Given the description of an element on the screen output the (x, y) to click on. 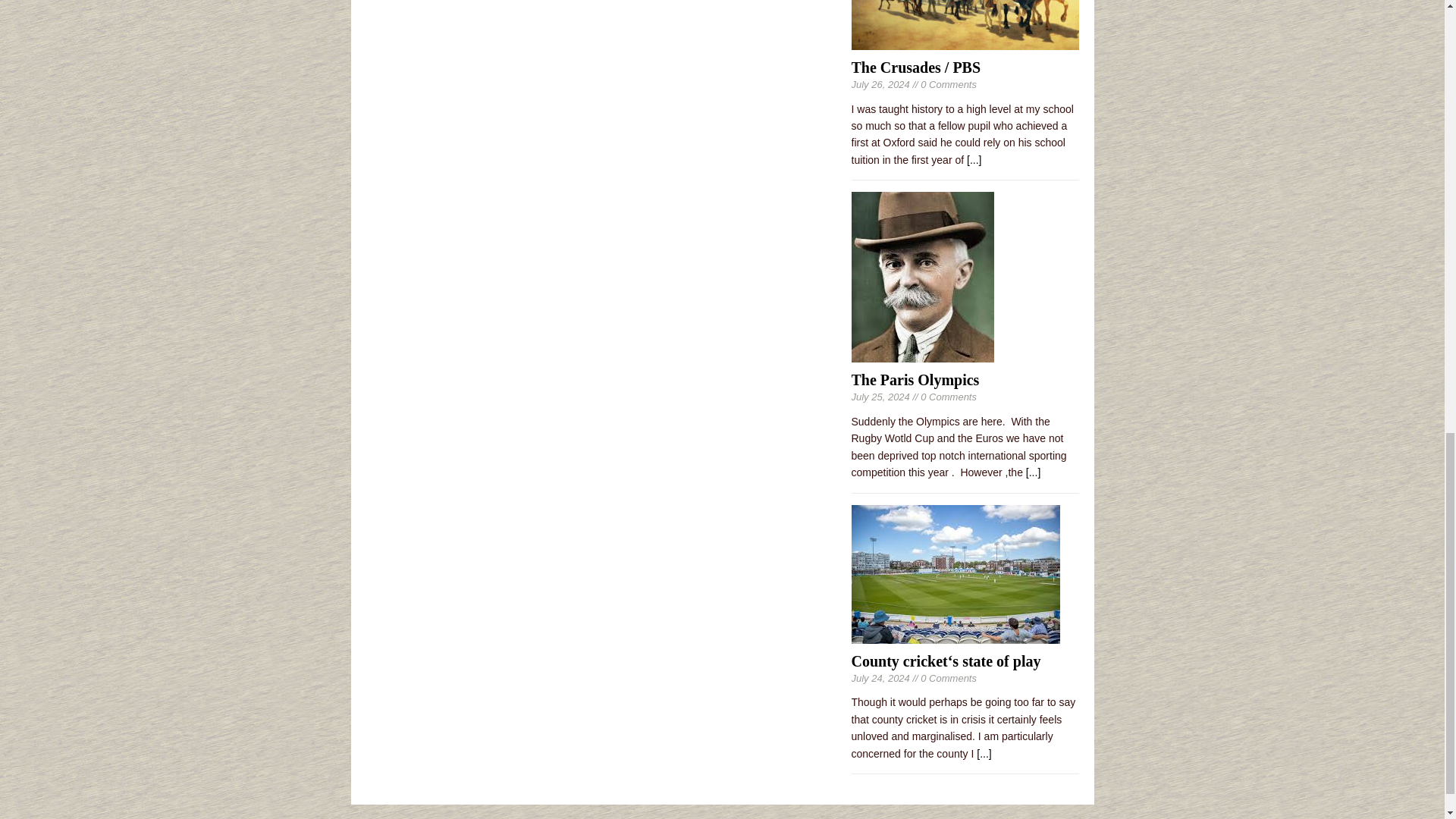
The Paris Olympics (921, 354)
The Paris Olympics (1033, 472)
The Paris Olympics (914, 379)
